Given the description of an element on the screen output the (x, y) to click on. 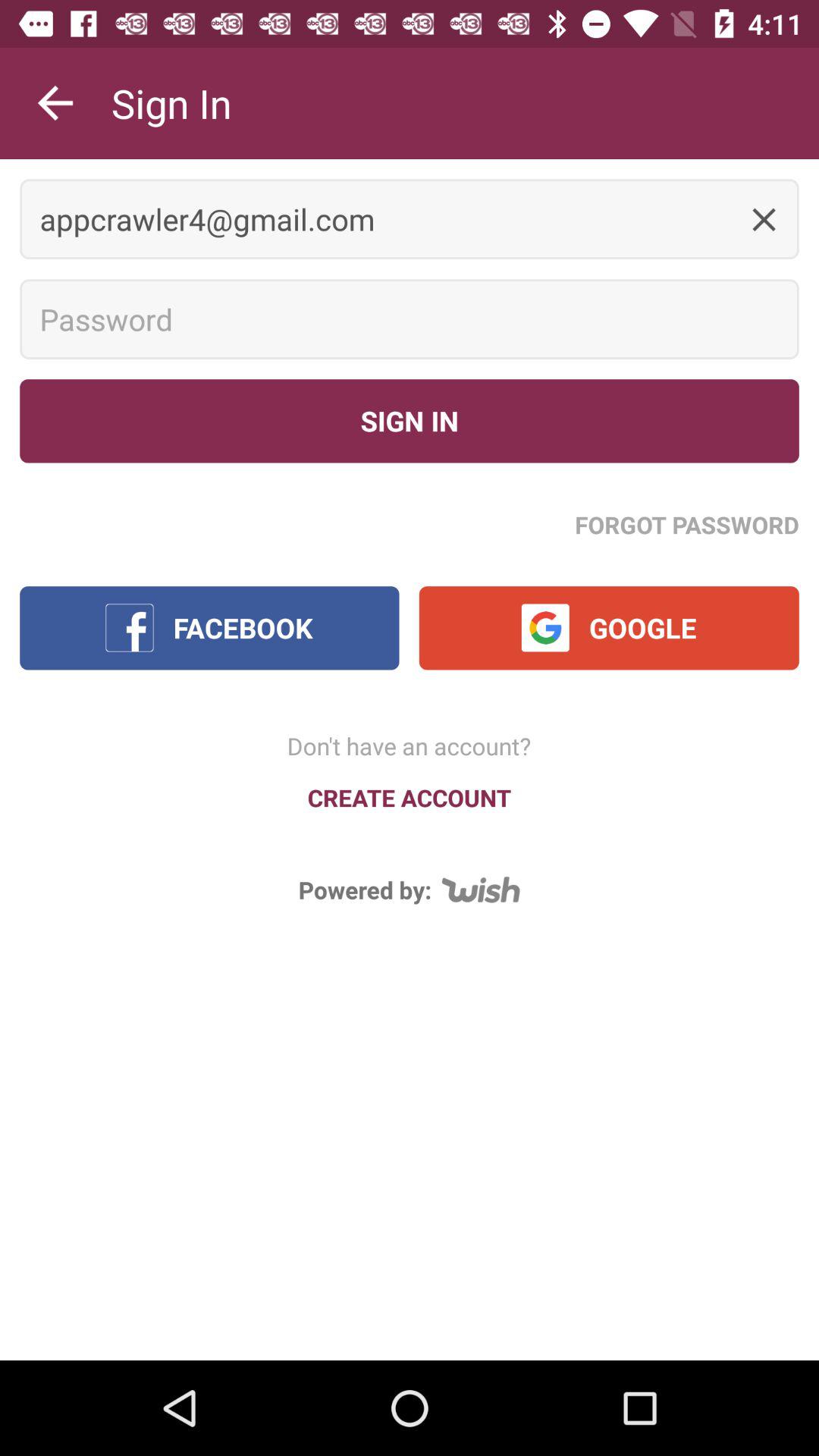
type in password (409, 319)
